Given the description of an element on the screen output the (x, y) to click on. 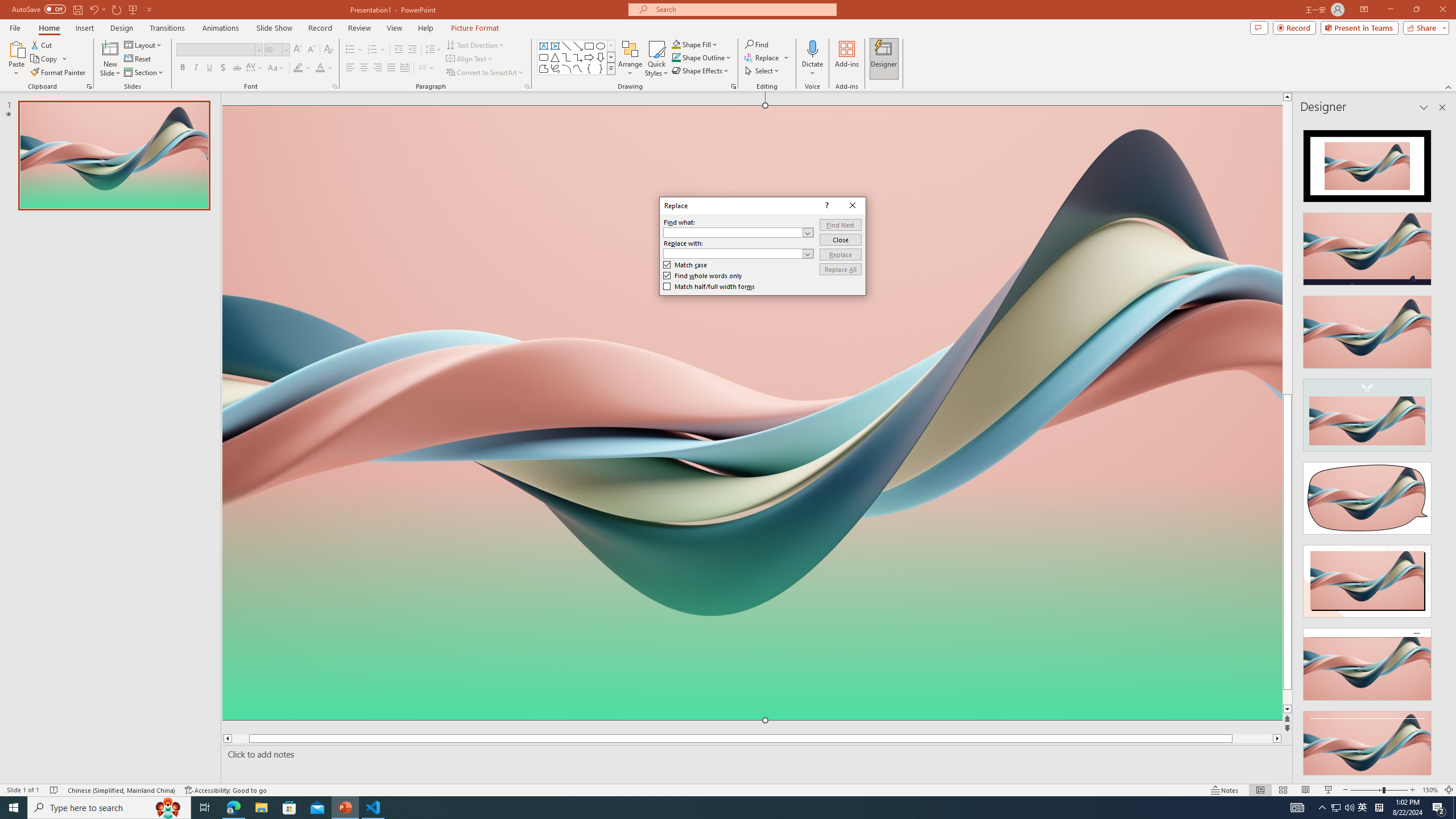
Replace with (732, 252)
